Given the description of an element on the screen output the (x, y) to click on. 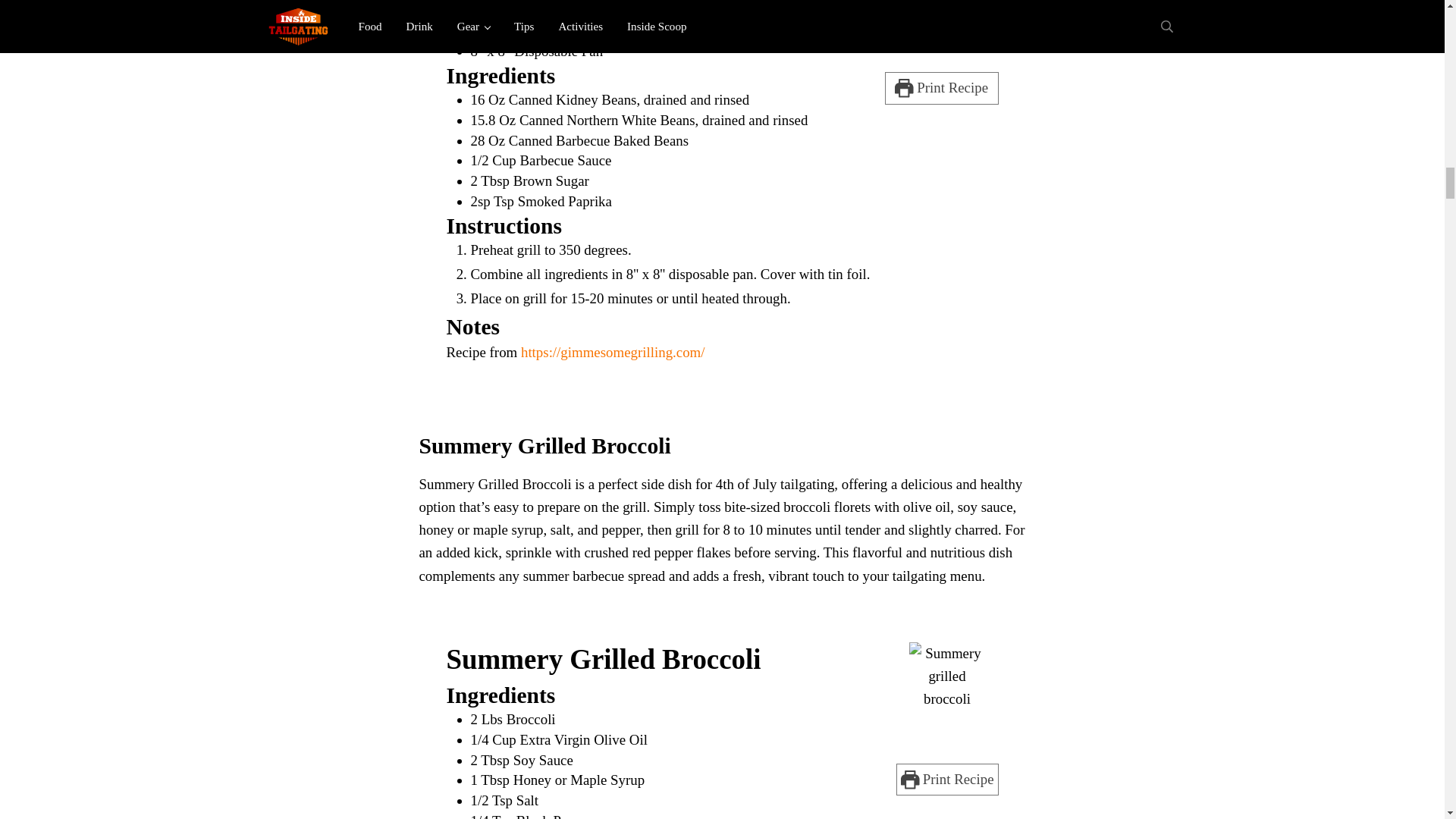
Print Recipe (940, 88)
Print Recipe (947, 779)
